Given the description of an element on the screen output the (x, y) to click on. 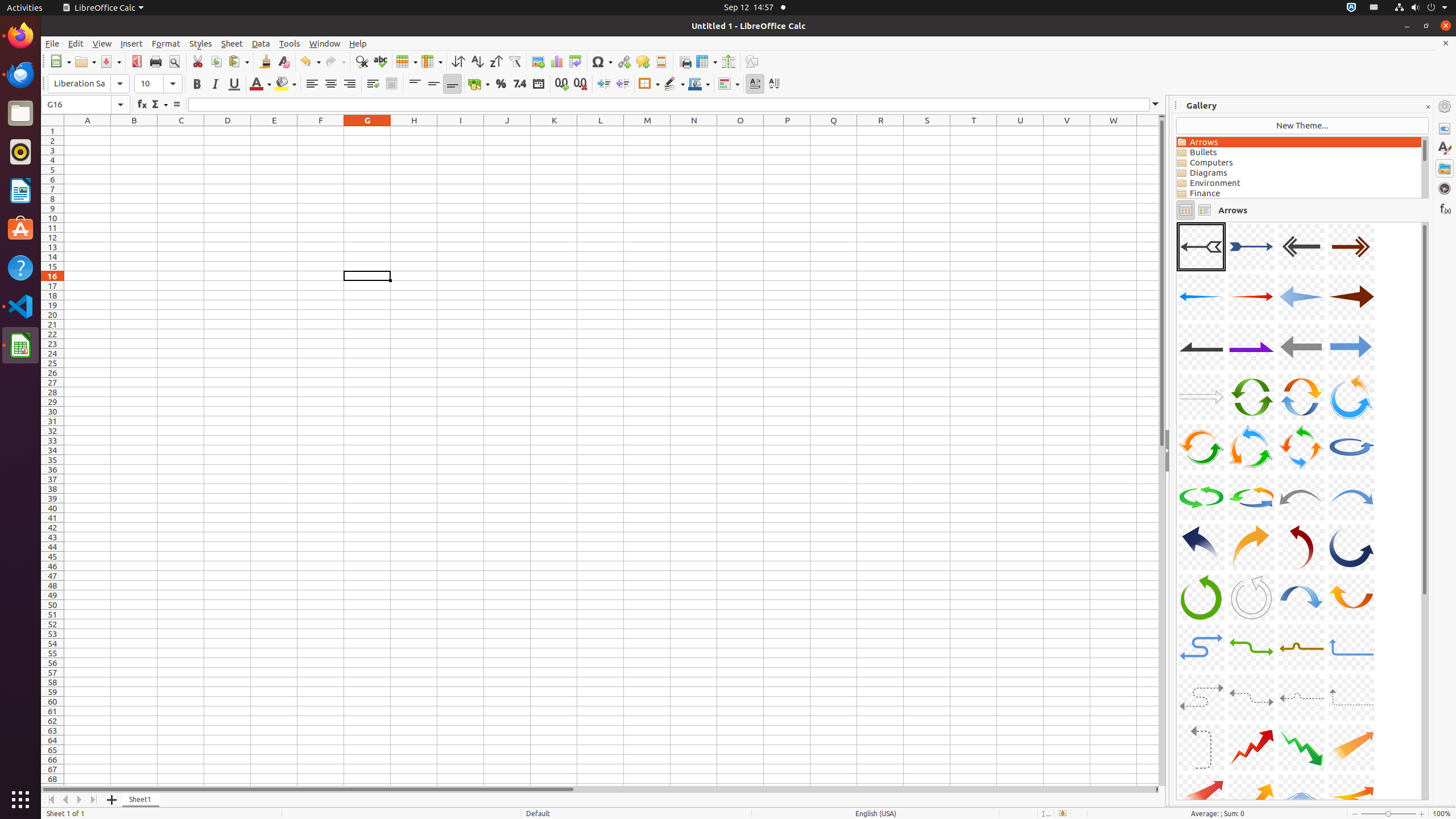
Currency Element type: push-button (478, 83)
Arrows Element type: list-item (1298, 142)
A23-CurvedArrow-Gray-Left Element type: list-item (1300, 496)
A48-TrendArrow-Orange-TwoDirections Element type: list-item (1176, 222)
A40-CurvedArrow-Gray-Up Element type: list-item (1350, 696)
